Given the description of an element on the screen output the (x, y) to click on. 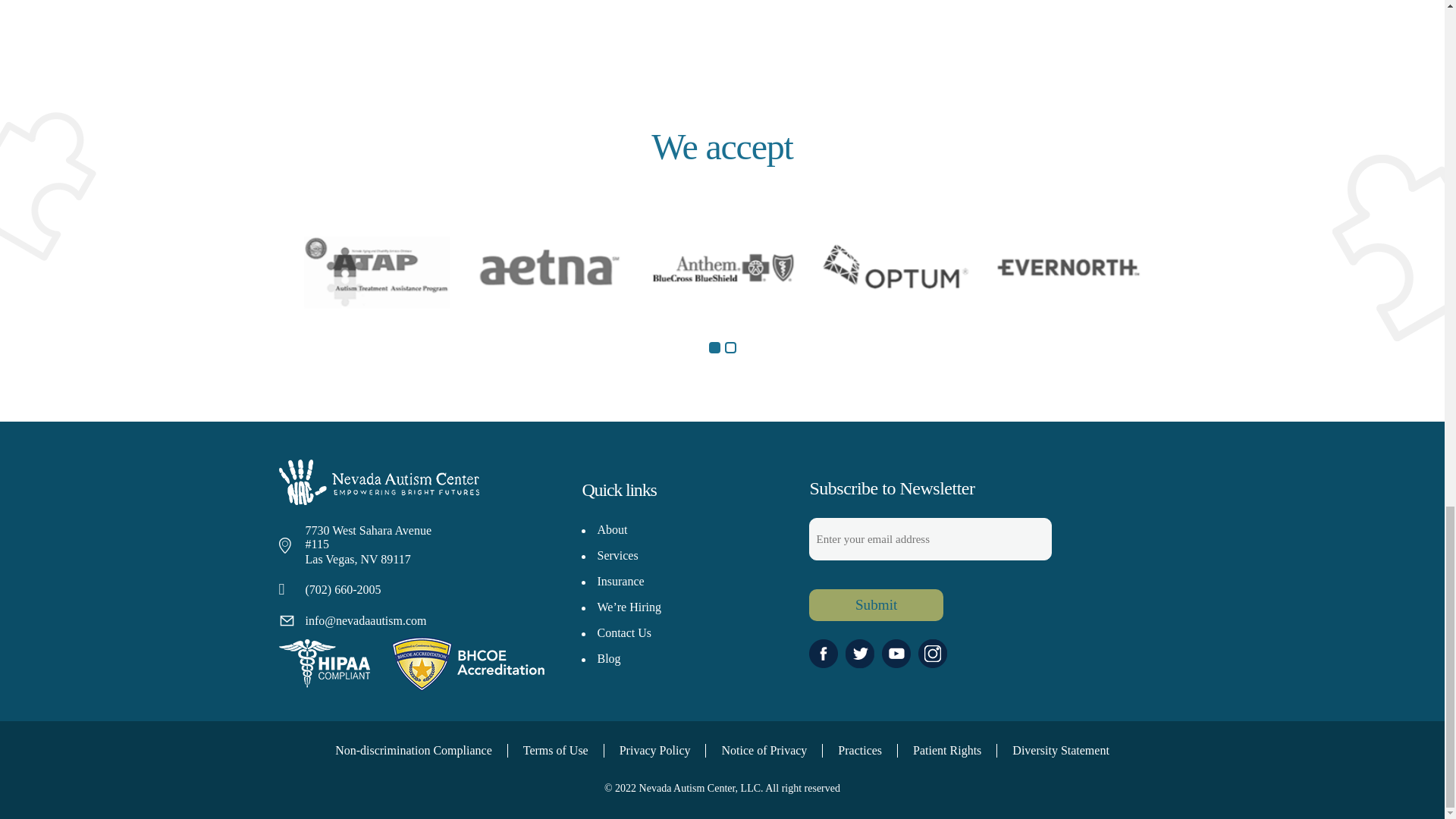
footer-logo-2 (324, 663)
Submit (875, 604)
footer-logo-1 (467, 664)
footer-logo (379, 482)
